Given the description of an element on the screen output the (x, y) to click on. 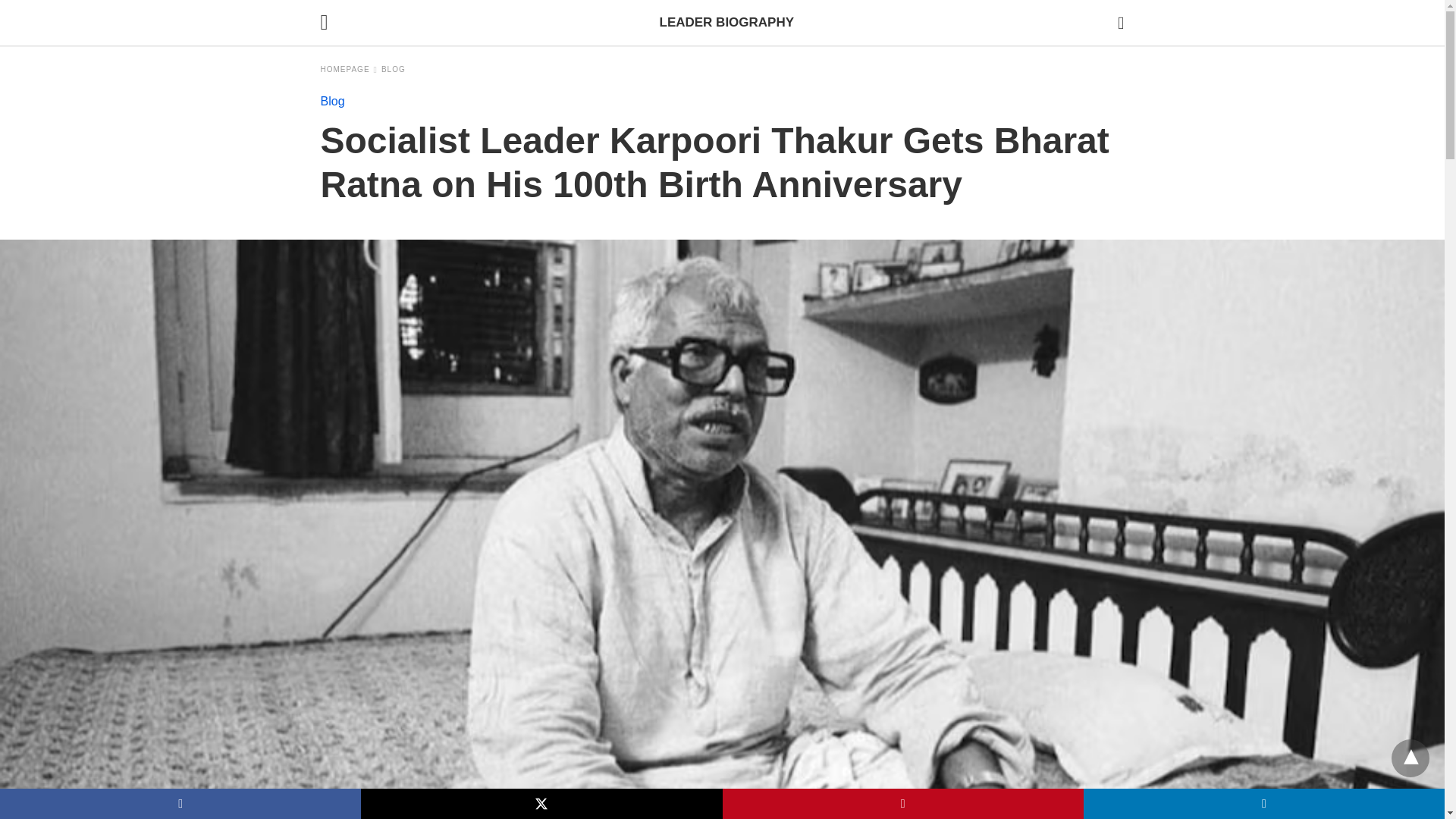
Homepage (348, 69)
Blog (331, 101)
Blog (331, 101)
Blog (393, 69)
BLOG (393, 69)
HOMEPAGE (348, 69)
